Given the description of an element on the screen output the (x, y) to click on. 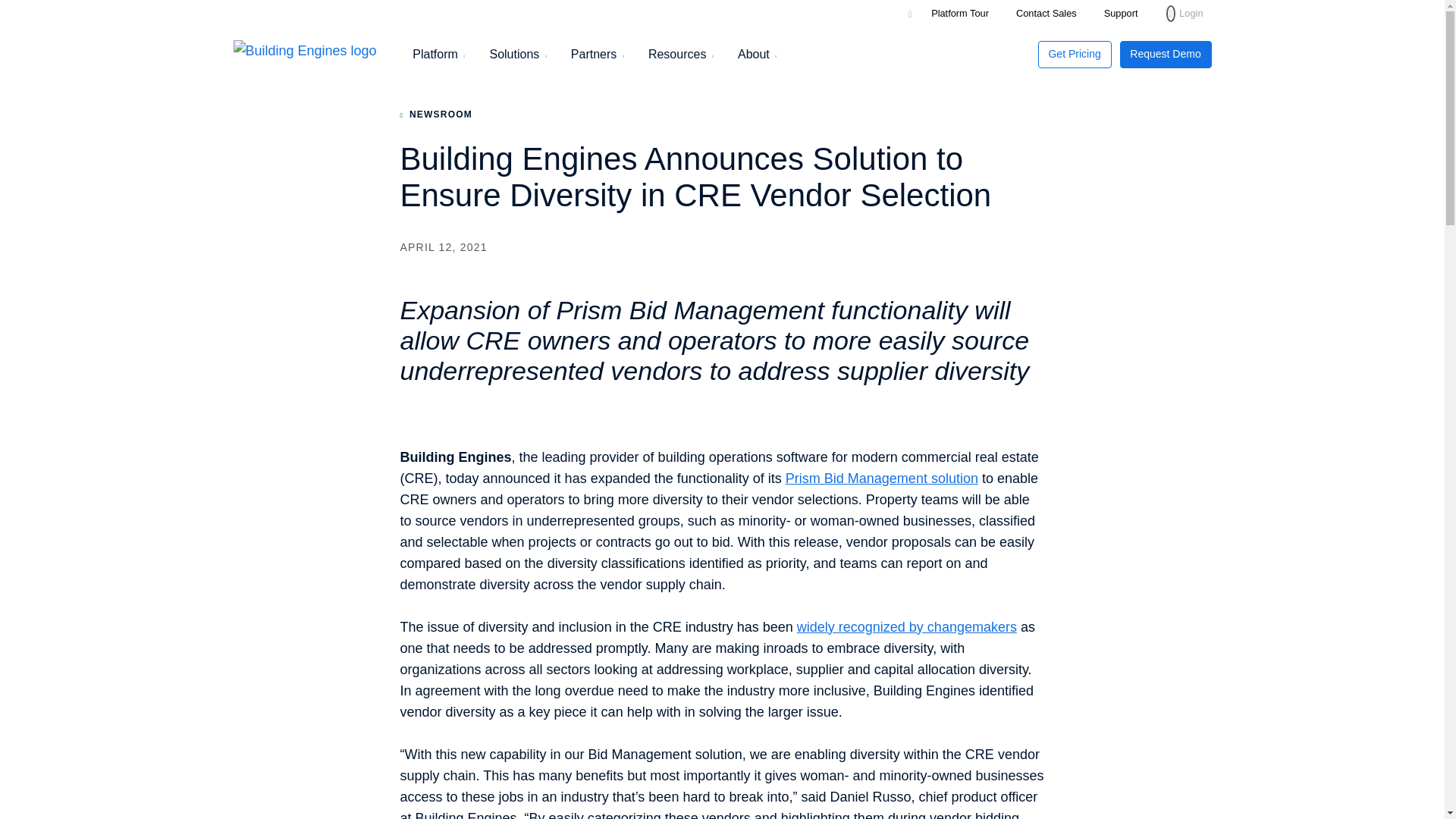
Platform (434, 54)
Support (1120, 12)
Platform Tour (959, 12)
Login (1184, 13)
Solutions (513, 54)
Contact Sales (1046, 12)
